Given the description of an element on the screen output the (x, y) to click on. 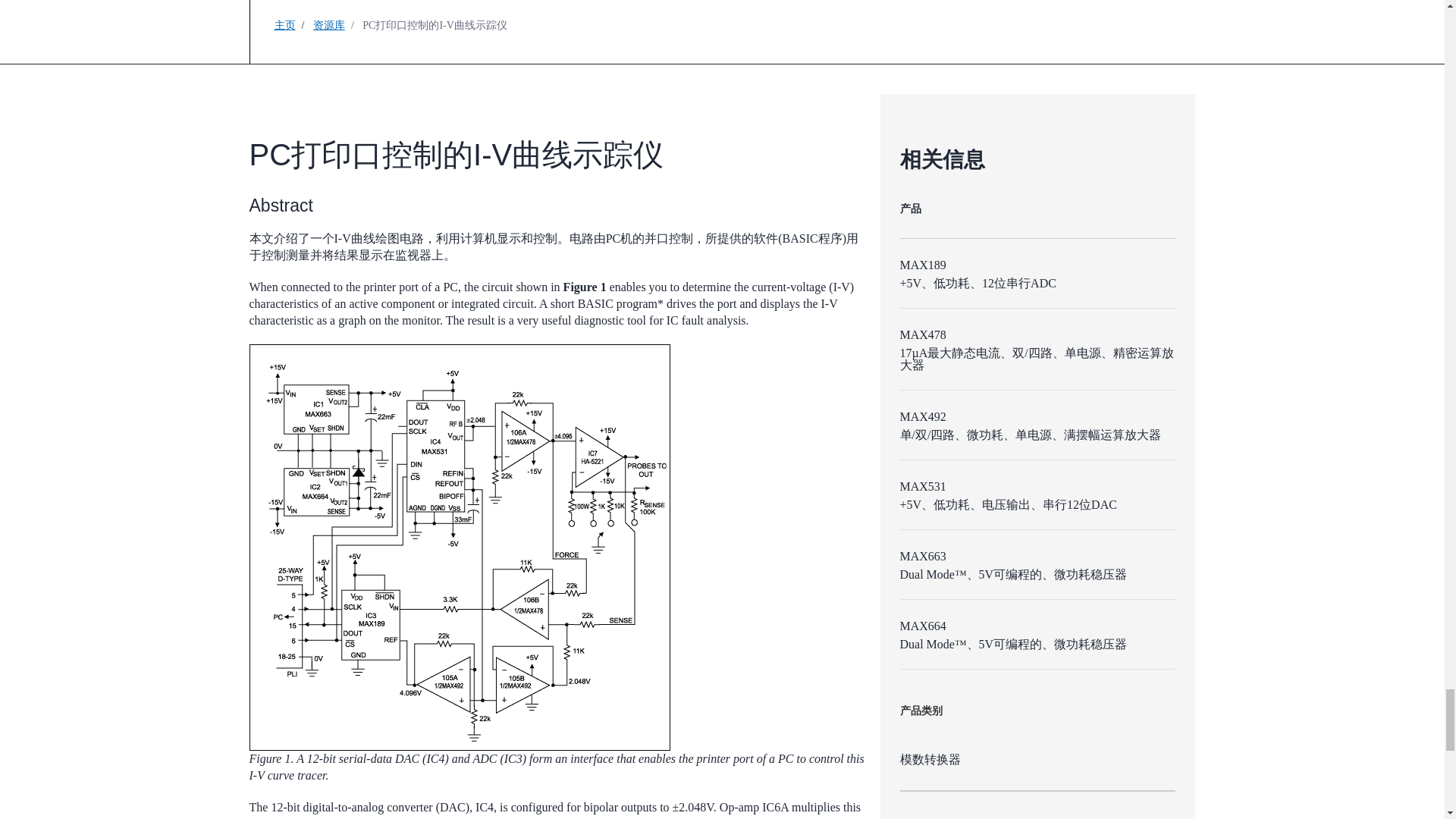
MAX663 (921, 555)
MAX478 (921, 334)
MAX492 (921, 416)
MAX664 (921, 625)
MAX189 (921, 264)
MAX531 (921, 486)
